Given the description of an element on the screen output the (x, y) to click on. 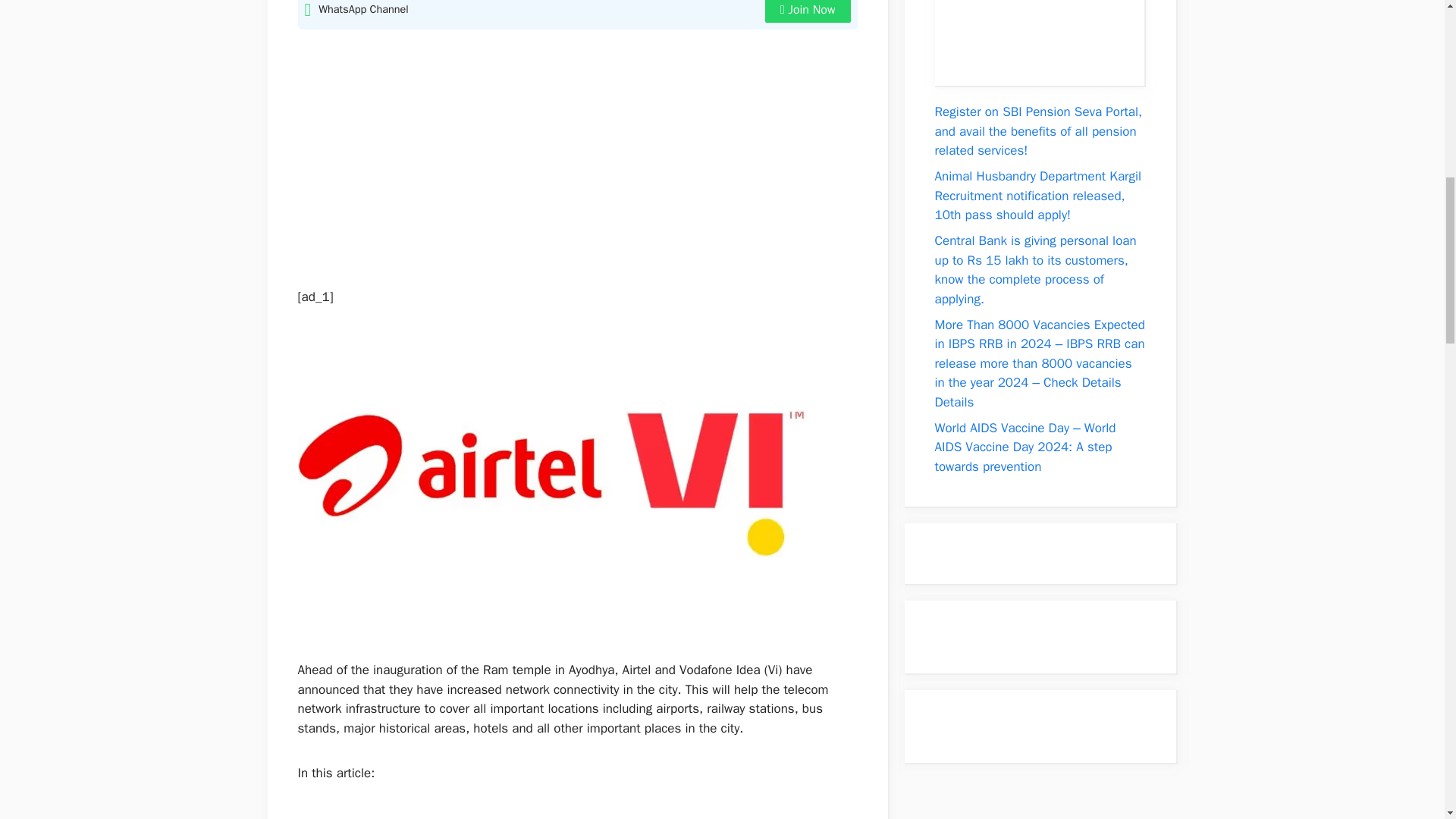
Advertisement (569, 151)
Join Now (807, 11)
